Given the description of an element on the screen output the (x, y) to click on. 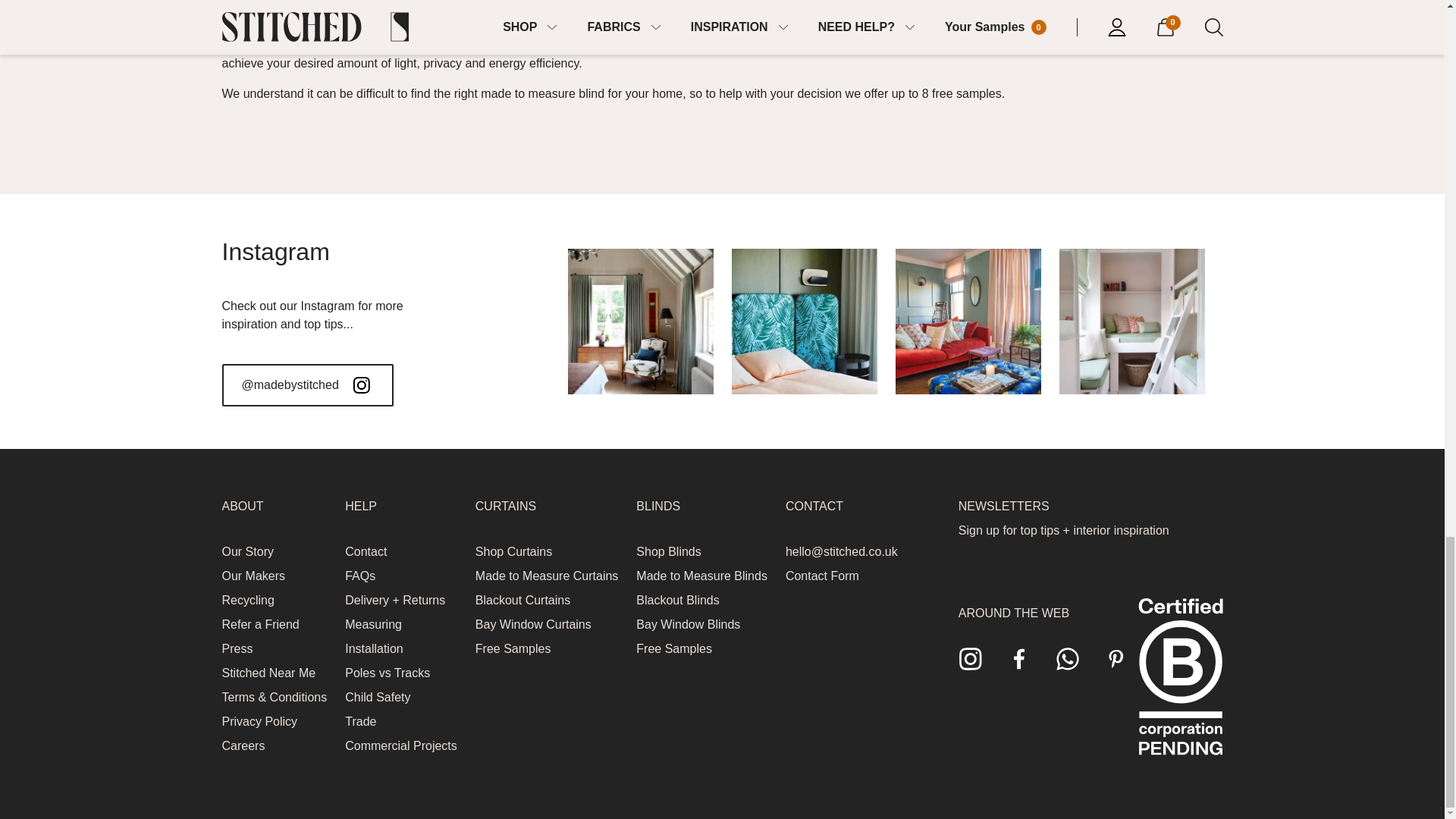
instagram logo (970, 658)
whatsapp logo (1067, 658)
facebook logo (1018, 658)
pinterest logo (1115, 658)
